Given the description of an element on the screen output the (x, y) to click on. 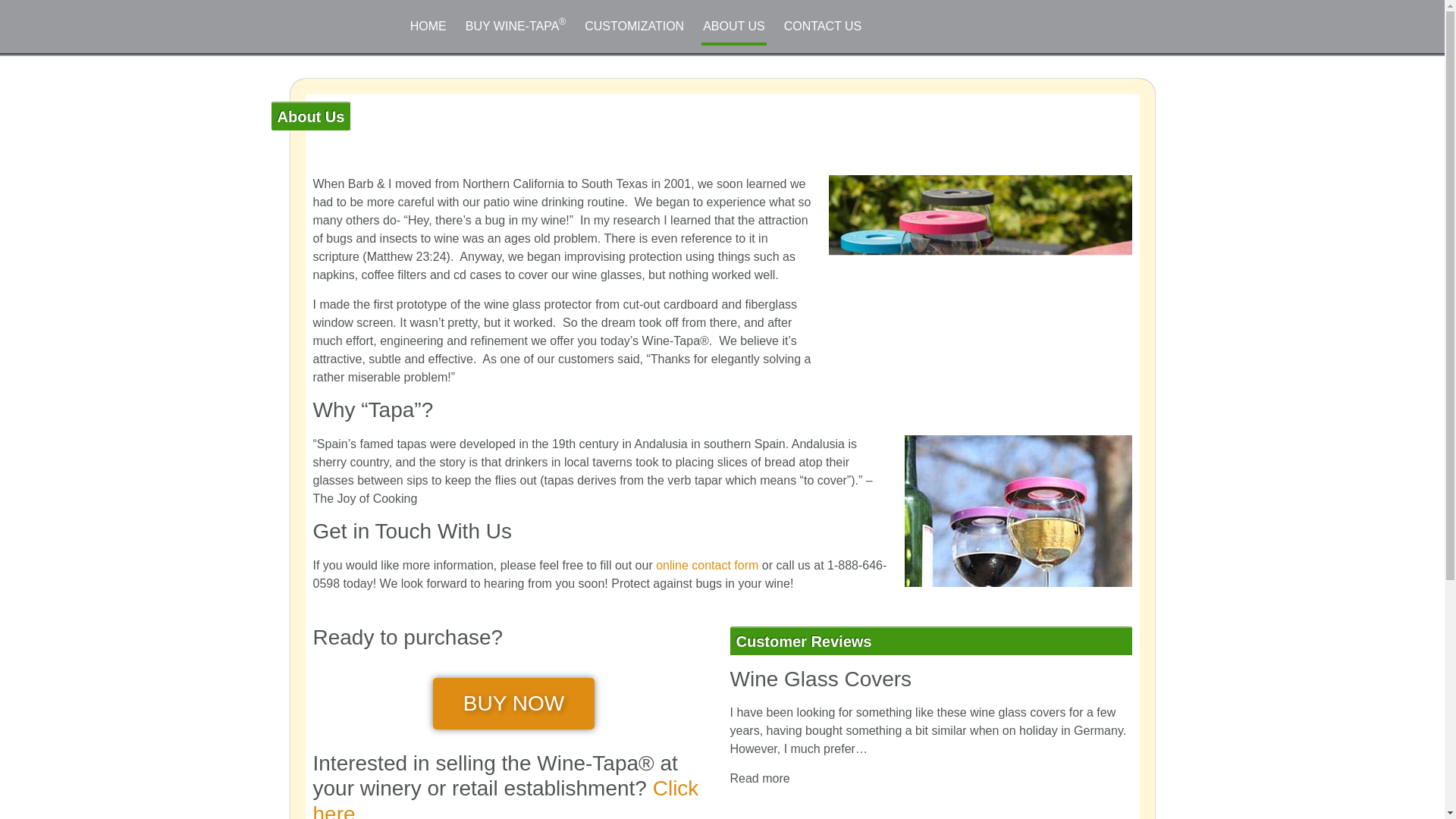
online contact form (707, 564)
Wine-Tapas (707, 564)
HOME (428, 26)
BUY NOW (513, 703)
Contact Us (505, 797)
CONTACT US (823, 26)
CUSTOMIZATION (634, 26)
Read more (759, 778)
ABOUT US (734, 26)
Click here (505, 797)
